Given the description of an element on the screen output the (x, y) to click on. 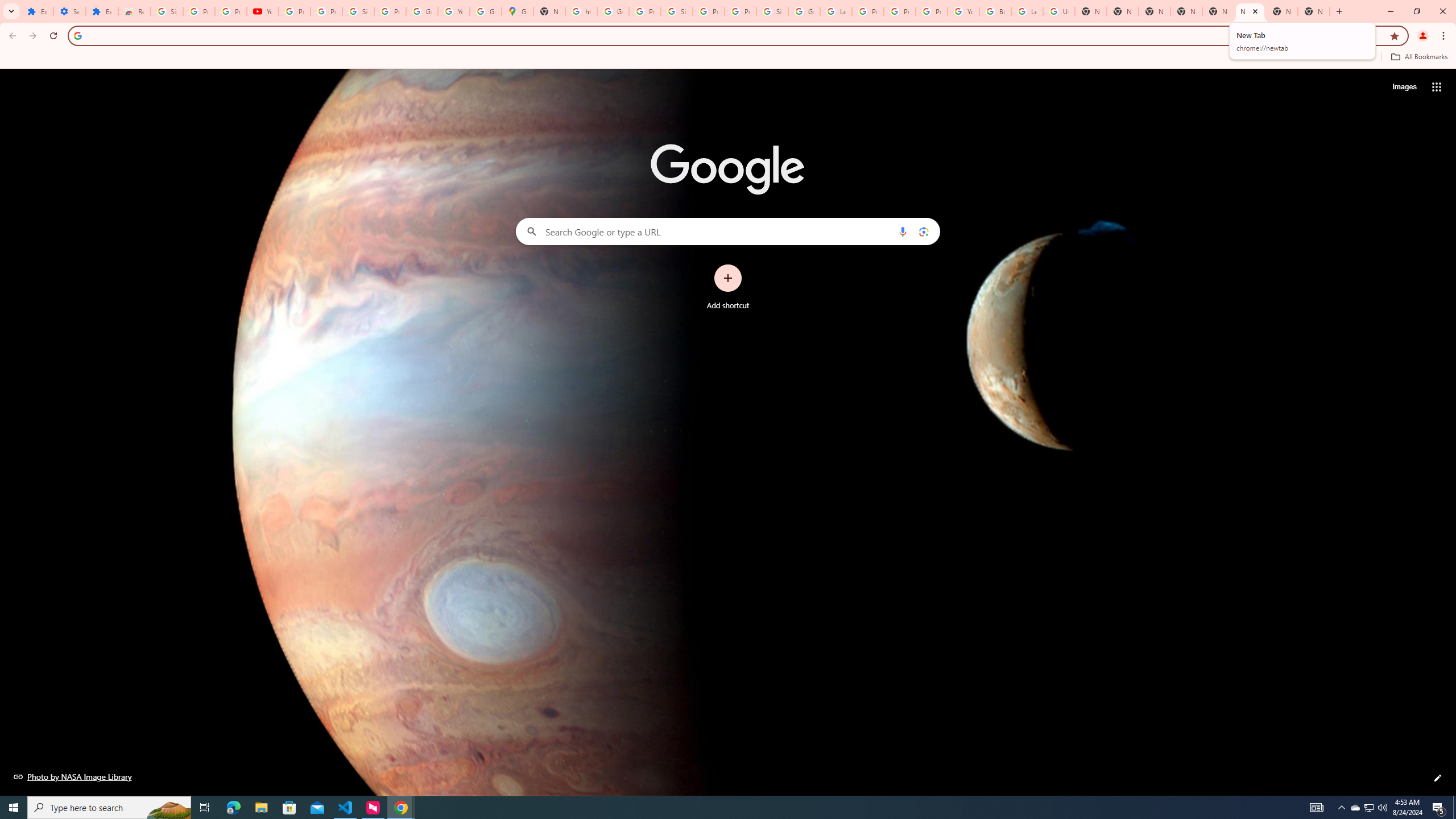
Reviews: Helix Fruit Jump Arcade Game (134, 11)
Sign in - Google Accounts (676, 11)
Privacy Help Center - Policies Help (899, 11)
